Given the description of an element on the screen output the (x, y) to click on. 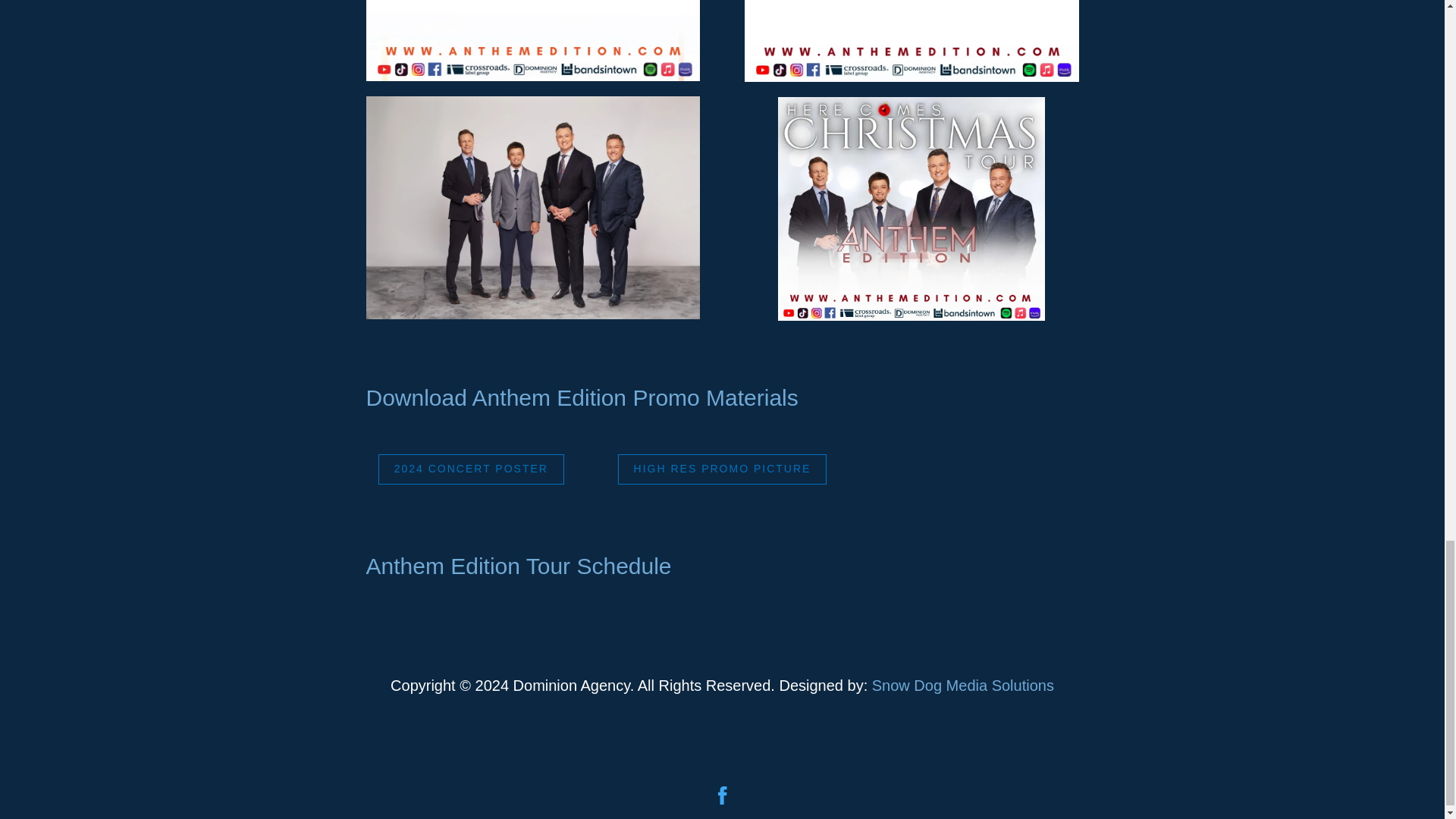
2024 CONCERT POSTER (471, 469)
Snow Dog Media Solutions (963, 685)
HIGH RES PROMO PICTURE (722, 469)
